Given the description of an element on the screen output the (x, y) to click on. 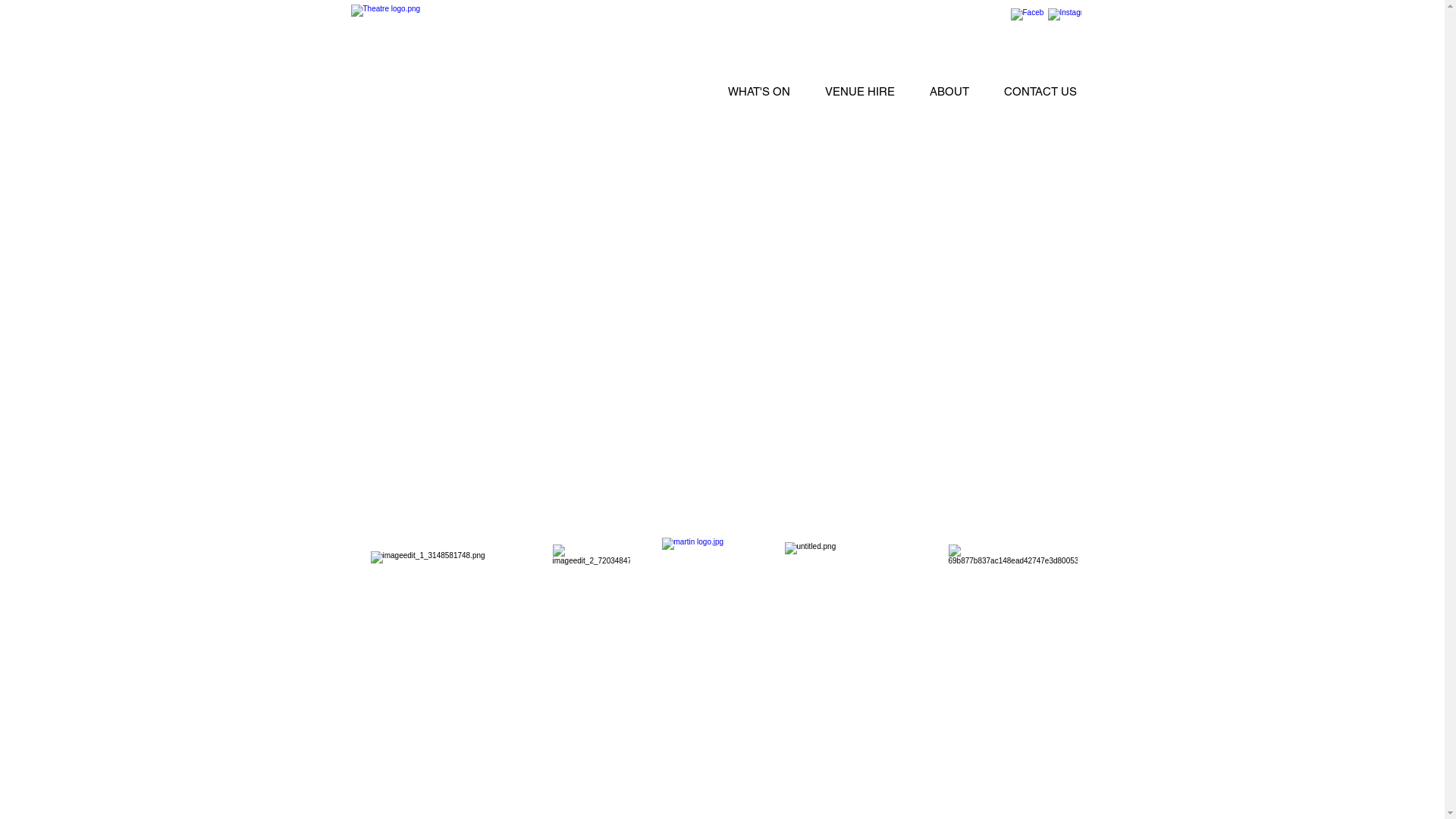
ABOUT Element type: text (948, 91)
VENUE HIRE Element type: text (858, 91)
CONTACT US Element type: text (1039, 91)
WHAT'S ON Element type: text (757, 91)
